Given the description of an element on the screen output the (x, y) to click on. 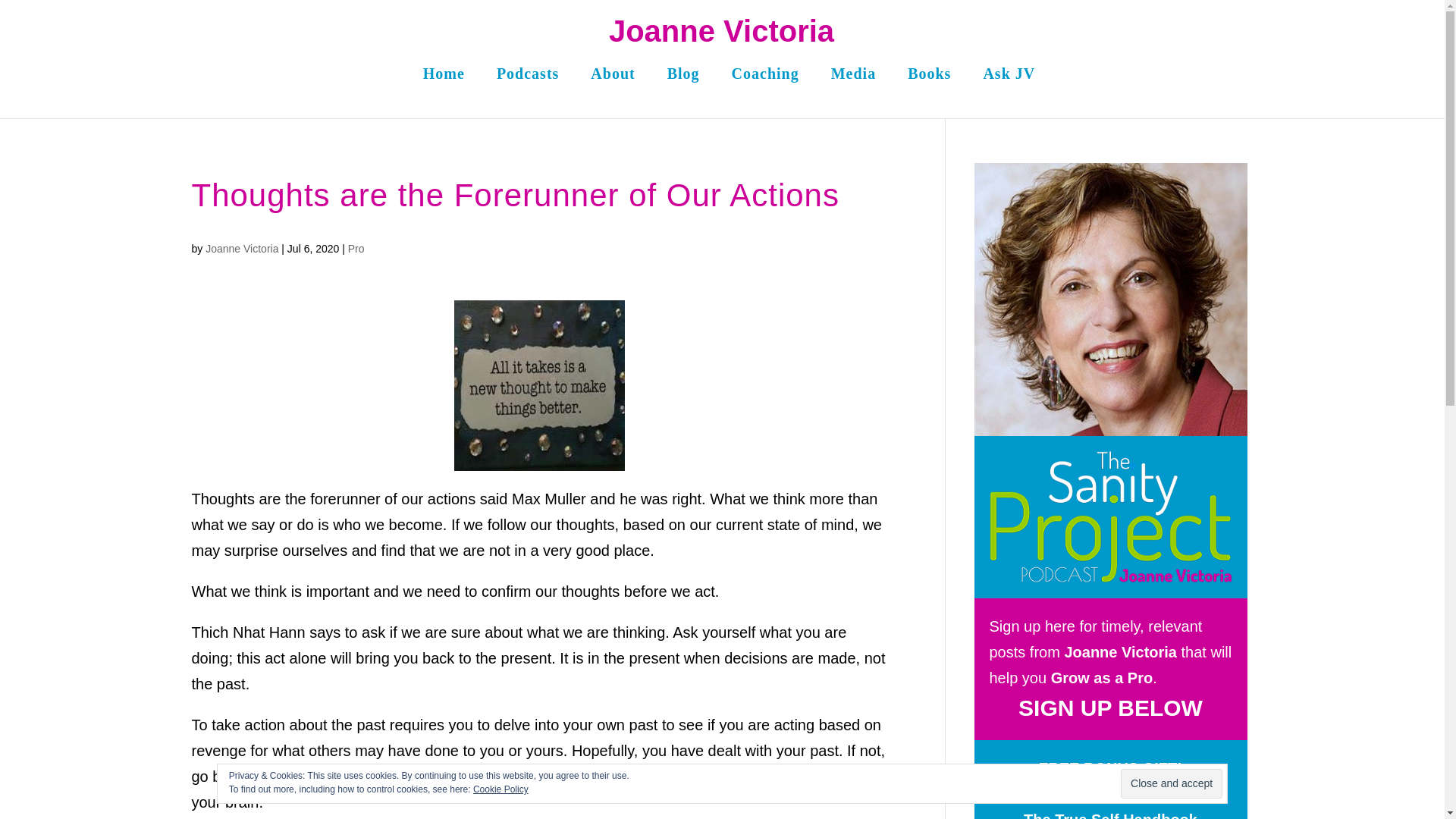
Close and accept (1172, 783)
Posts by Joanne Victoria (241, 248)
Home (443, 81)
Cookie Policy (500, 788)
Ask JV (1008, 81)
Blog (683, 81)
Books (928, 81)
Media (853, 81)
Pro (356, 248)
Joanne Victoria (241, 248)
About (612, 81)
Coaching (765, 81)
Podcasts (527, 81)
Close and accept (1172, 783)
